Given the description of an element on the screen output the (x, y) to click on. 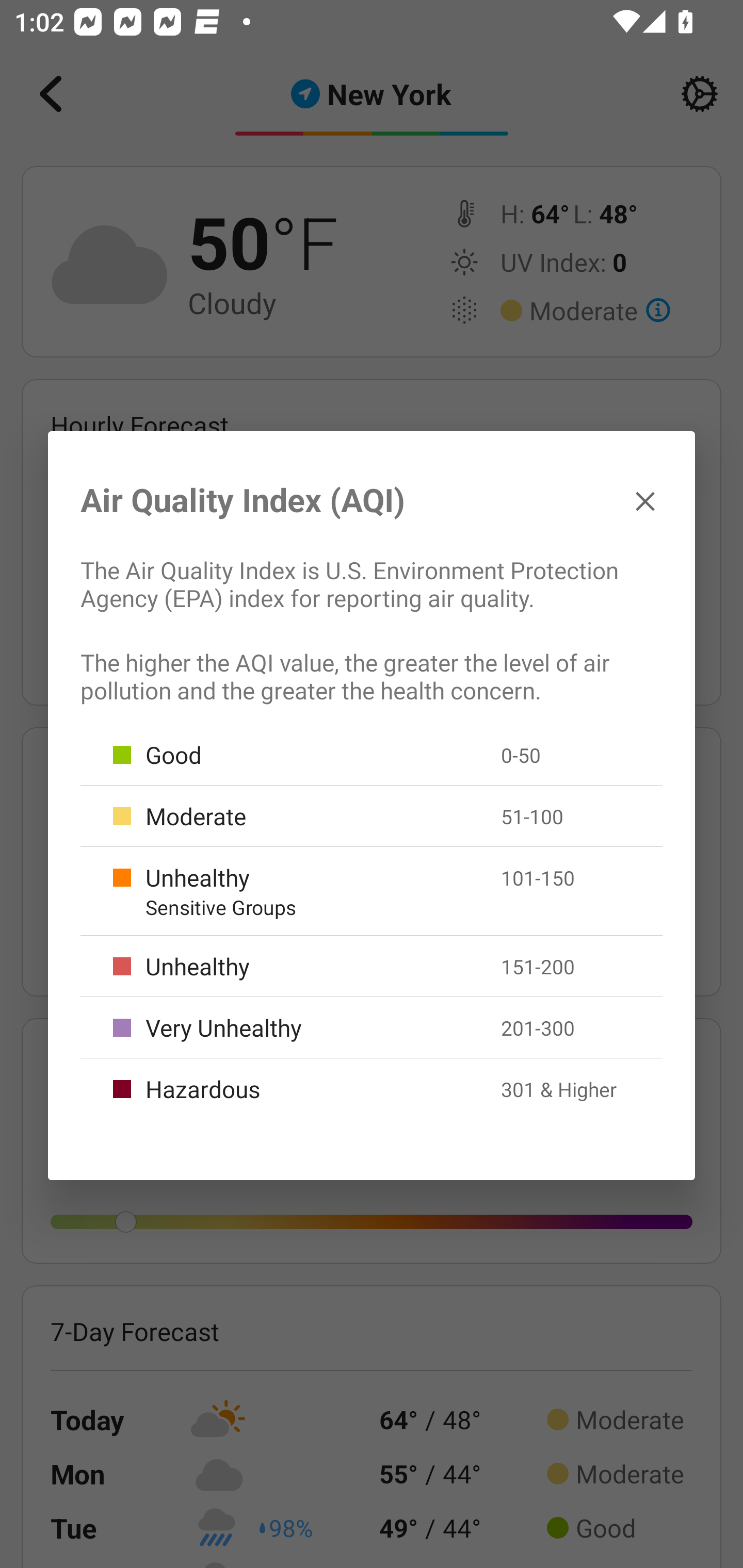
✕ (644, 499)
